Given the description of an element on the screen output the (x, y) to click on. 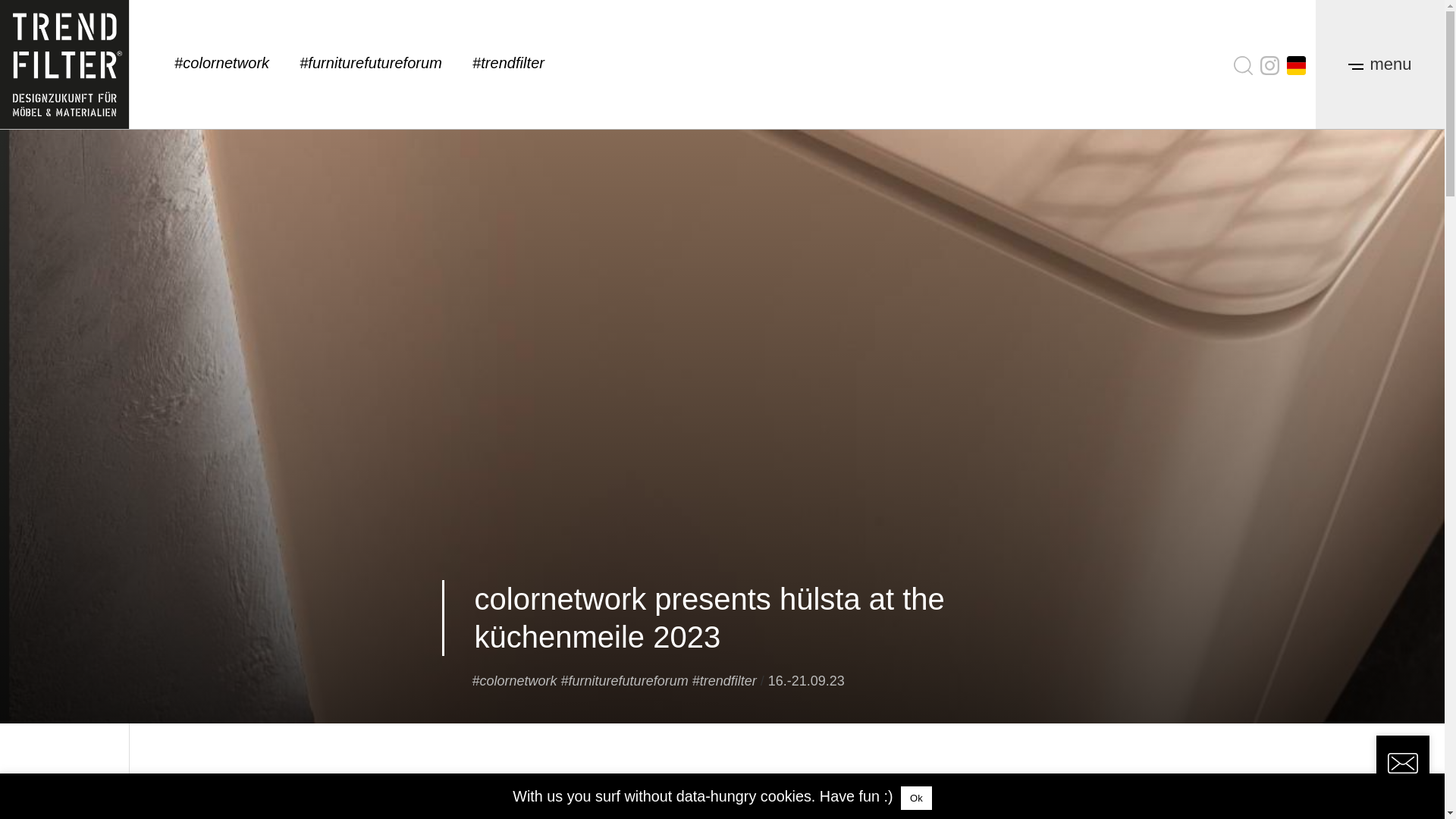
colornetwork (513, 680)
trendfilter (725, 680)
Ok (916, 797)
furniturefutureforum (624, 680)
